Given the description of an element on the screen output the (x, y) to click on. 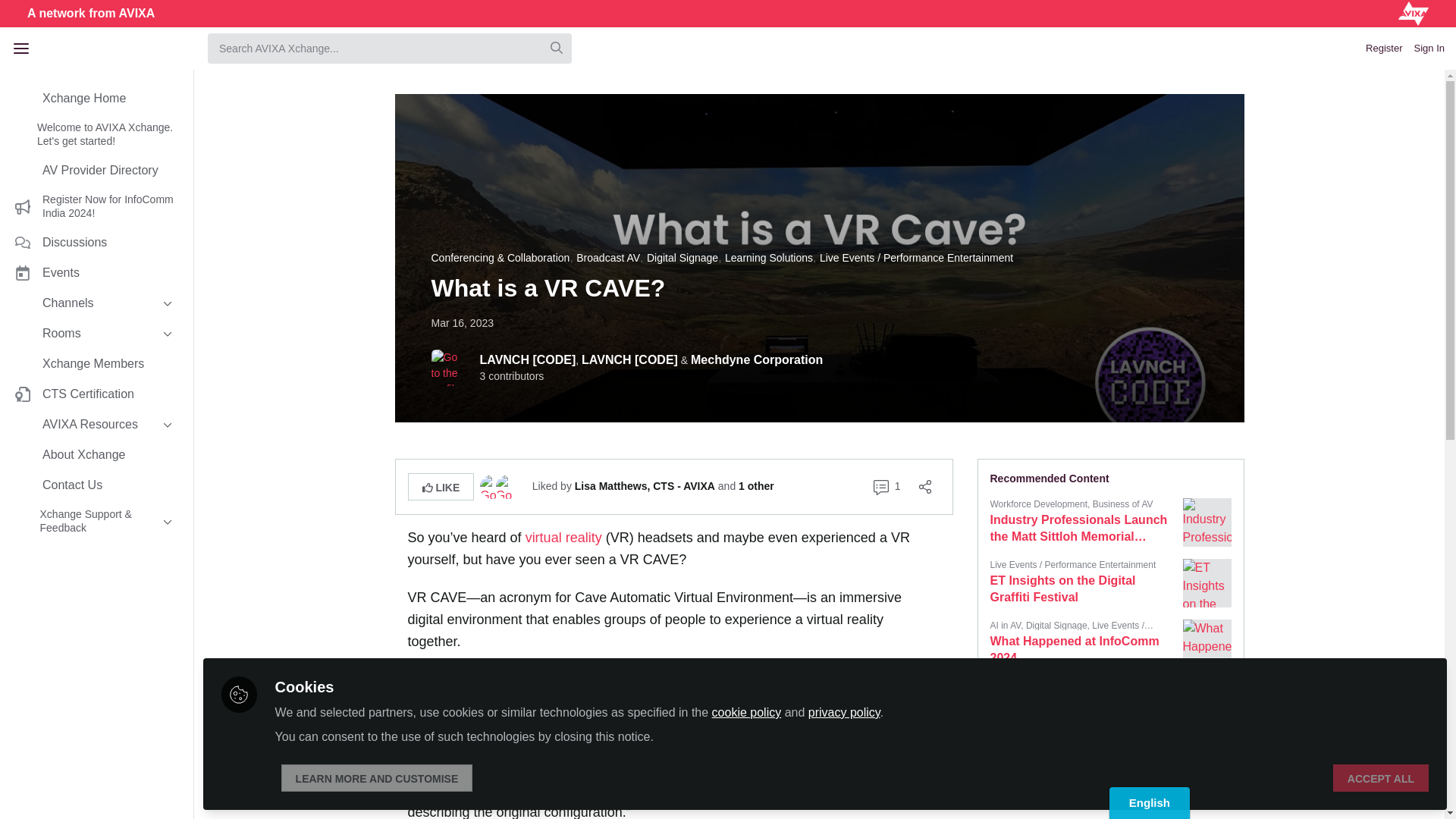
Events (96, 272)
Menu (21, 48)
Register Now for InfoComm India 2024! (96, 206)
Channels (96, 302)
AV Provider Directory (96, 170)
Rooms (96, 333)
Discussions (96, 242)
Welcome to AVIXA Xchange. Let's get started! (96, 134)
AVIXA Xchange (117, 48)
AV Provider Directory (96, 170)
